Given the description of an element on the screen output the (x, y) to click on. 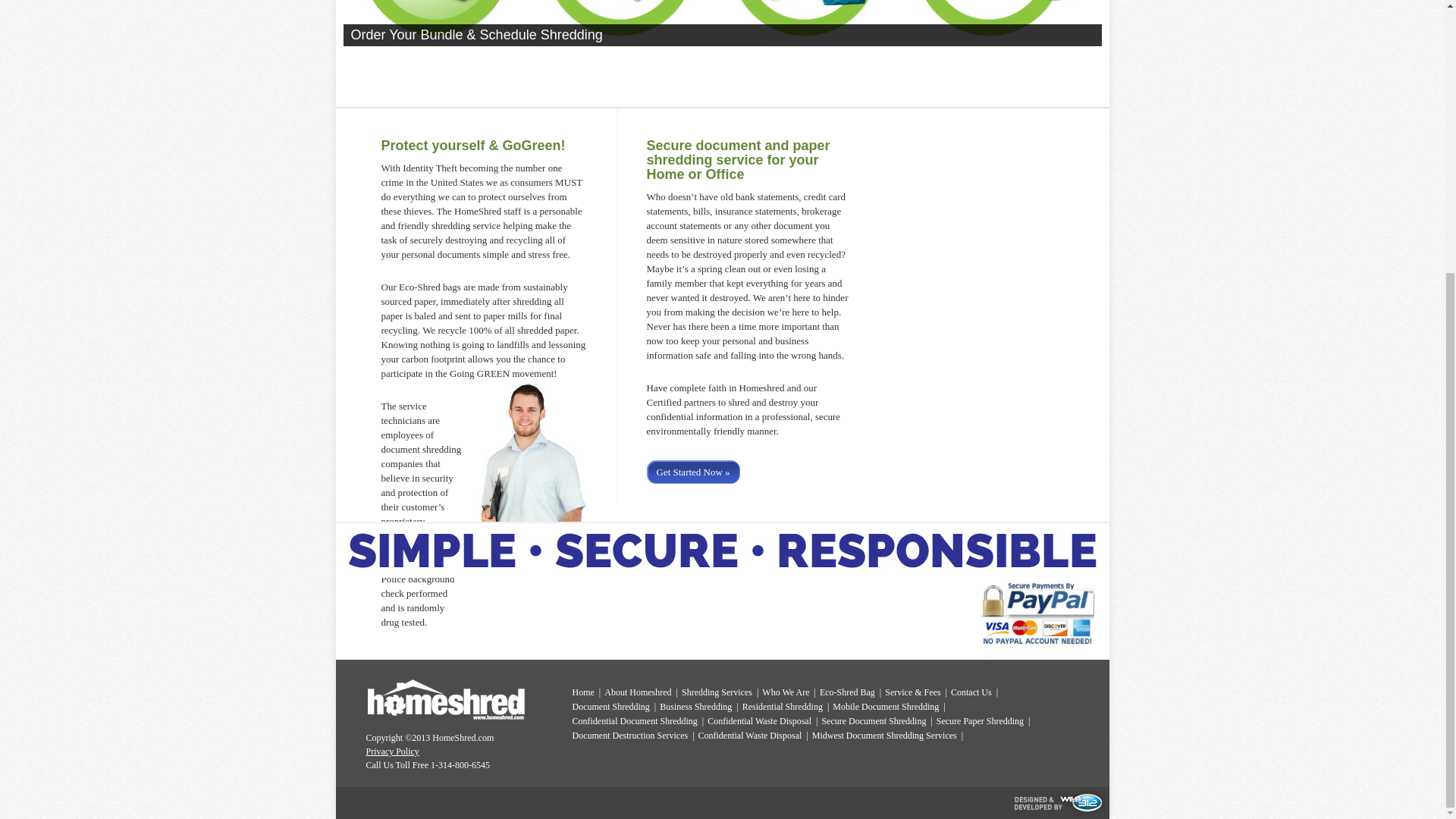
Privacy Policy (392, 751)
